Given the description of an element on the screen output the (x, y) to click on. 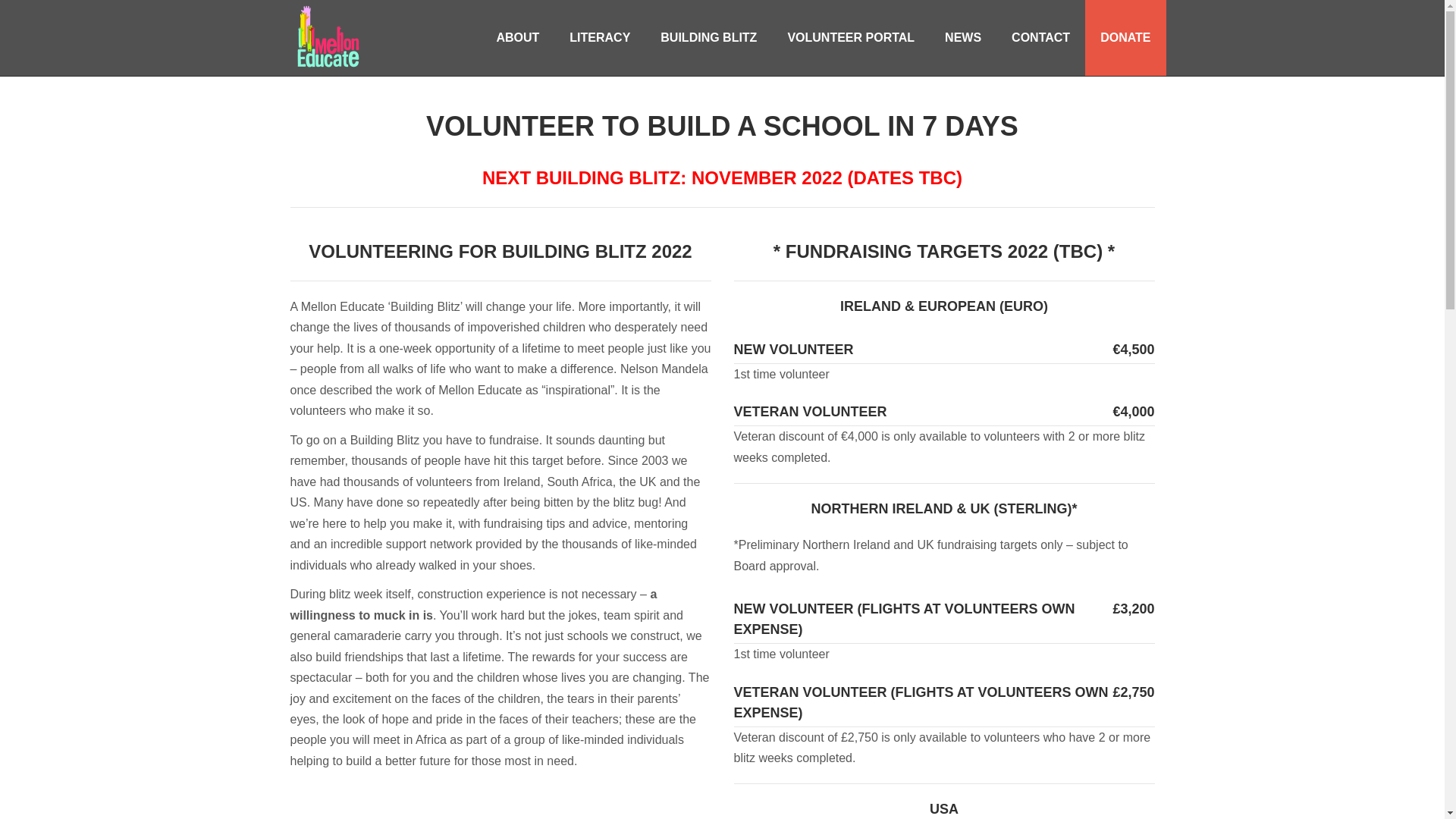
DONATE (1125, 38)
BUILDING BLITZ (708, 38)
CONTACT (1039, 38)
ABOUT (517, 38)
VOLUNTEER PORTAL (850, 38)
LITERACY (599, 38)
